Given the description of an element on the screen output the (x, y) to click on. 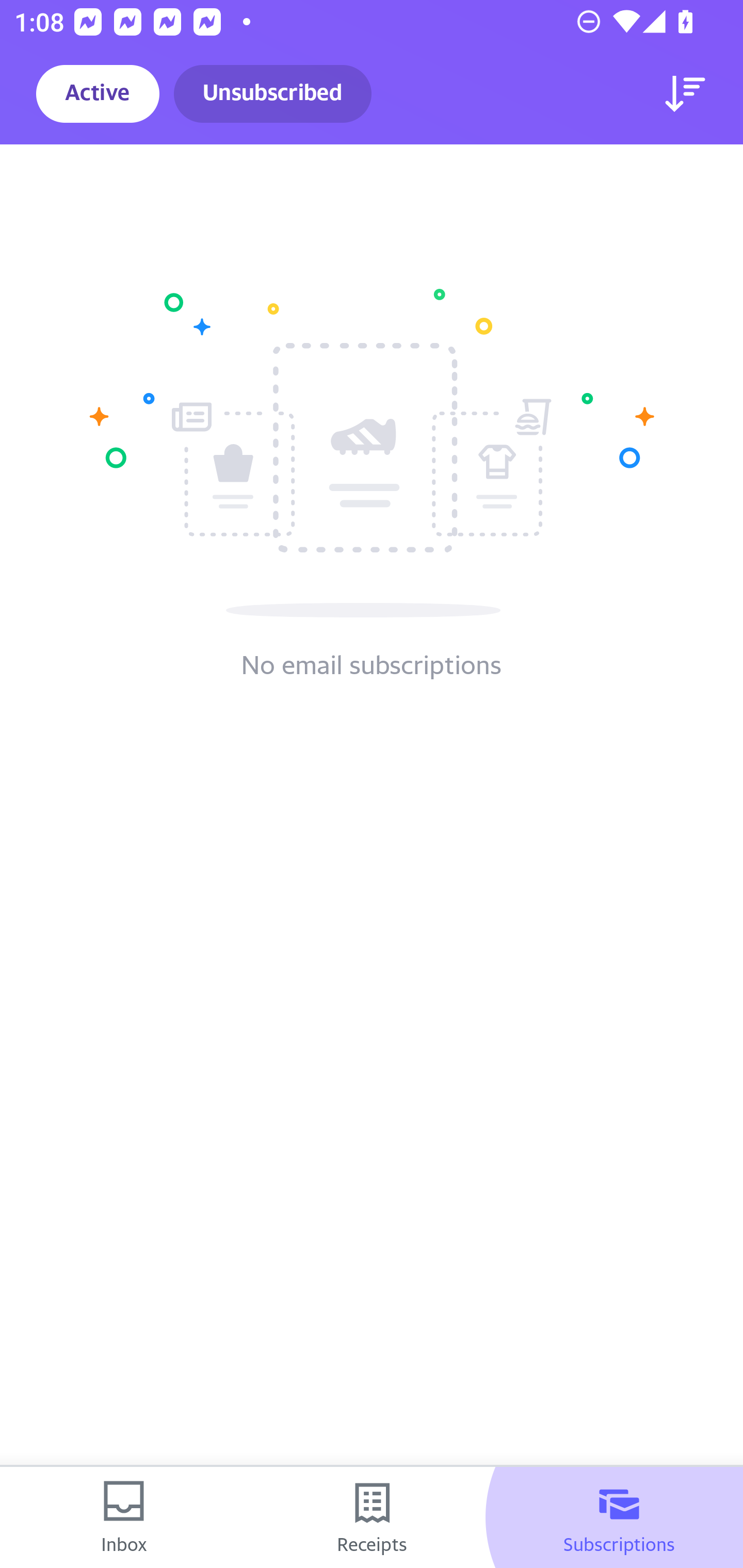
Unsubscribed (272, 93)
Sort (684, 93)
Inbox (123, 1517)
Receipts (371, 1517)
Subscriptions (619, 1517)
